Given the description of an element on the screen output the (x, y) to click on. 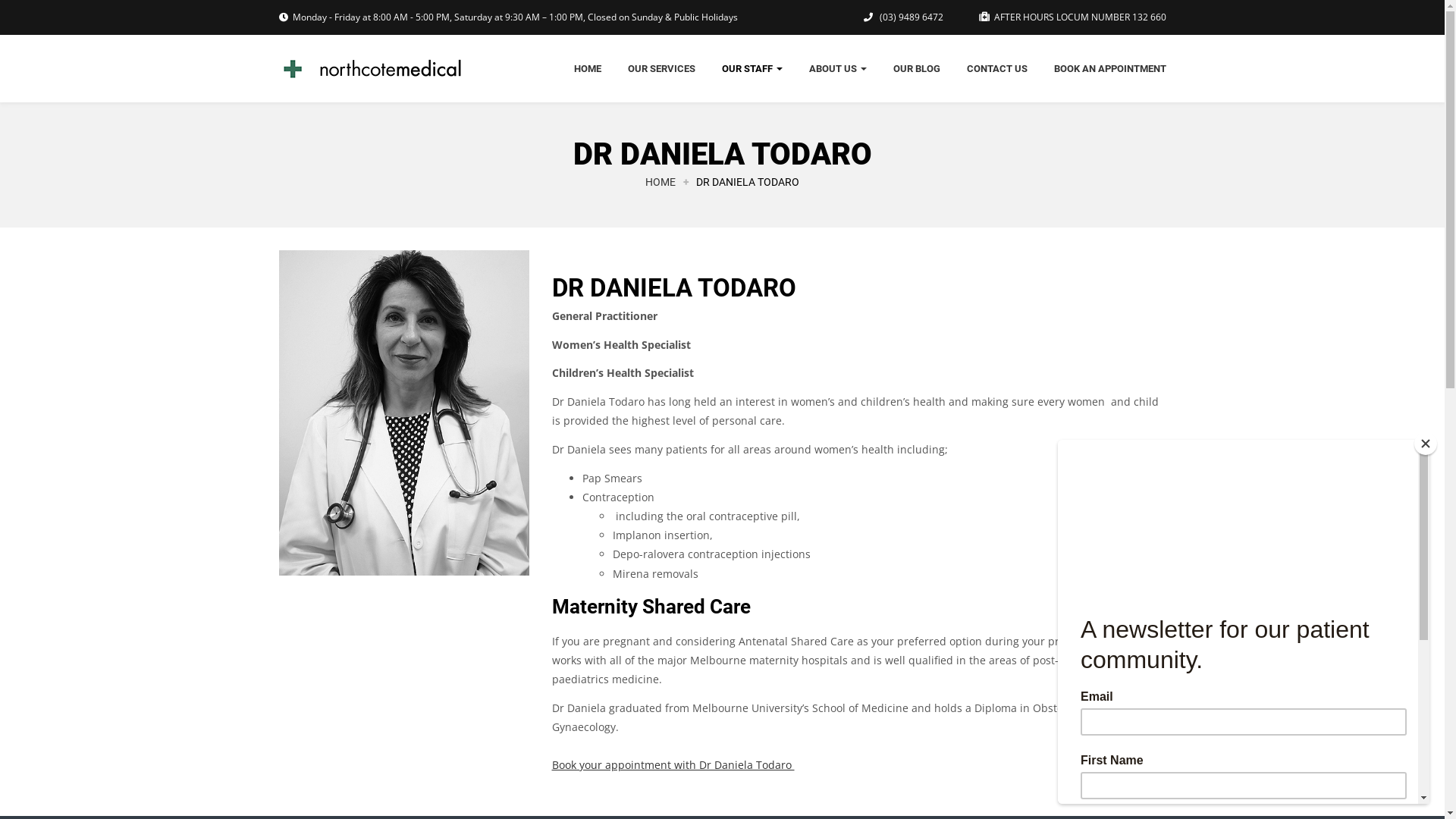
OUR STAFF Element type: text (751, 68)
HOME Element type: text (660, 181)
(03) 9489 6472 Element type: text (909, 16)
ABOUT US Element type: text (837, 68)
CONTACT US Element type: text (996, 68)
BOOK AN APPOINTMENT Element type: text (1110, 68)
HOME Element type: text (586, 68)
OUR SERVICES Element type: text (661, 68)
132 660 Element type: text (1148, 16)
Book your appointment with Dr Daniela Todaro  Element type: text (673, 764)
OUR BLOG Element type: text (916, 68)
